Given the description of an element on the screen output the (x, y) to click on. 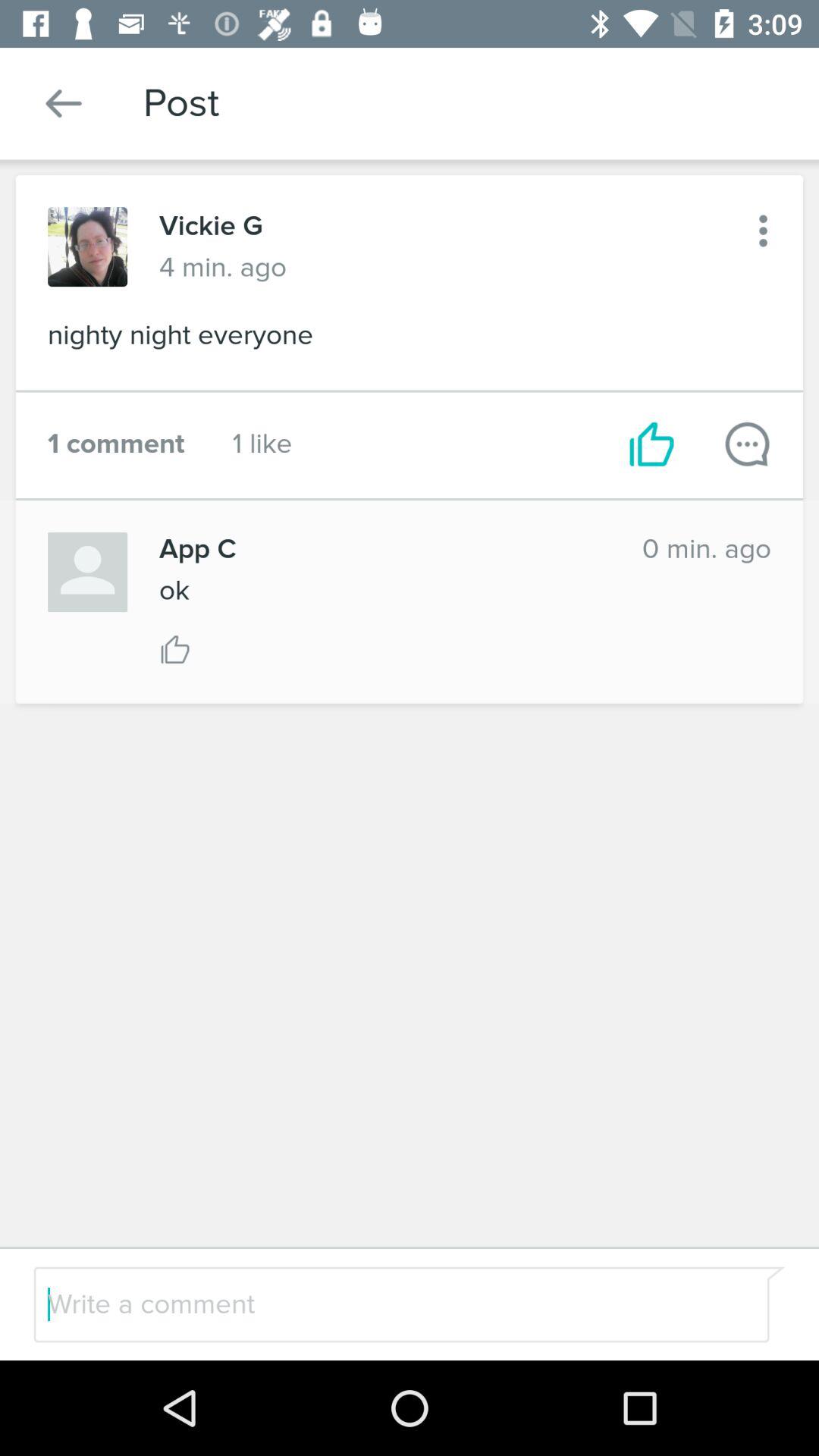
open vickie g (210, 225)
